Given the description of an element on the screen output the (x, y) to click on. 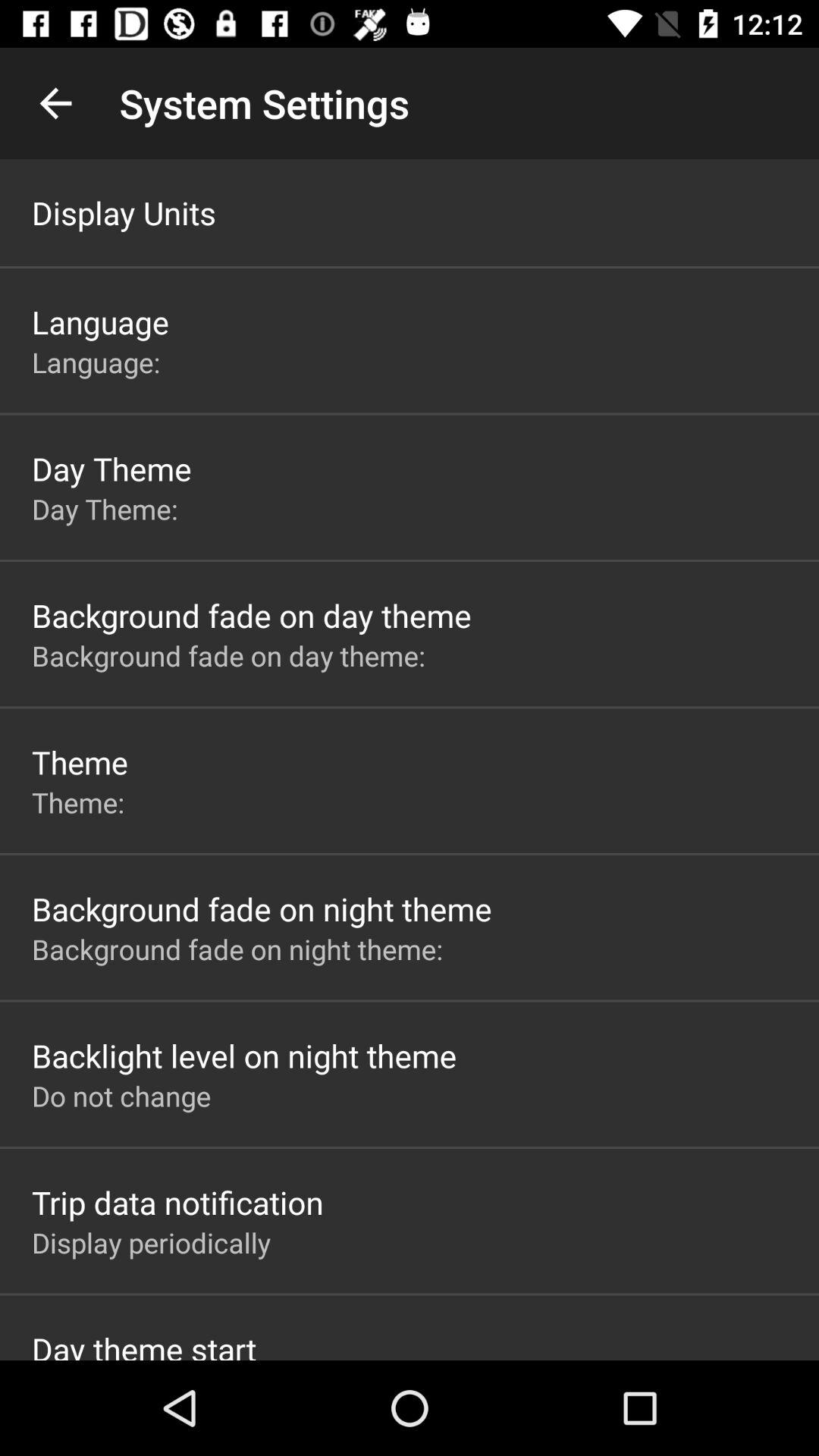
scroll to display periodically icon (150, 1242)
